Given the description of an element on the screen output the (x, y) to click on. 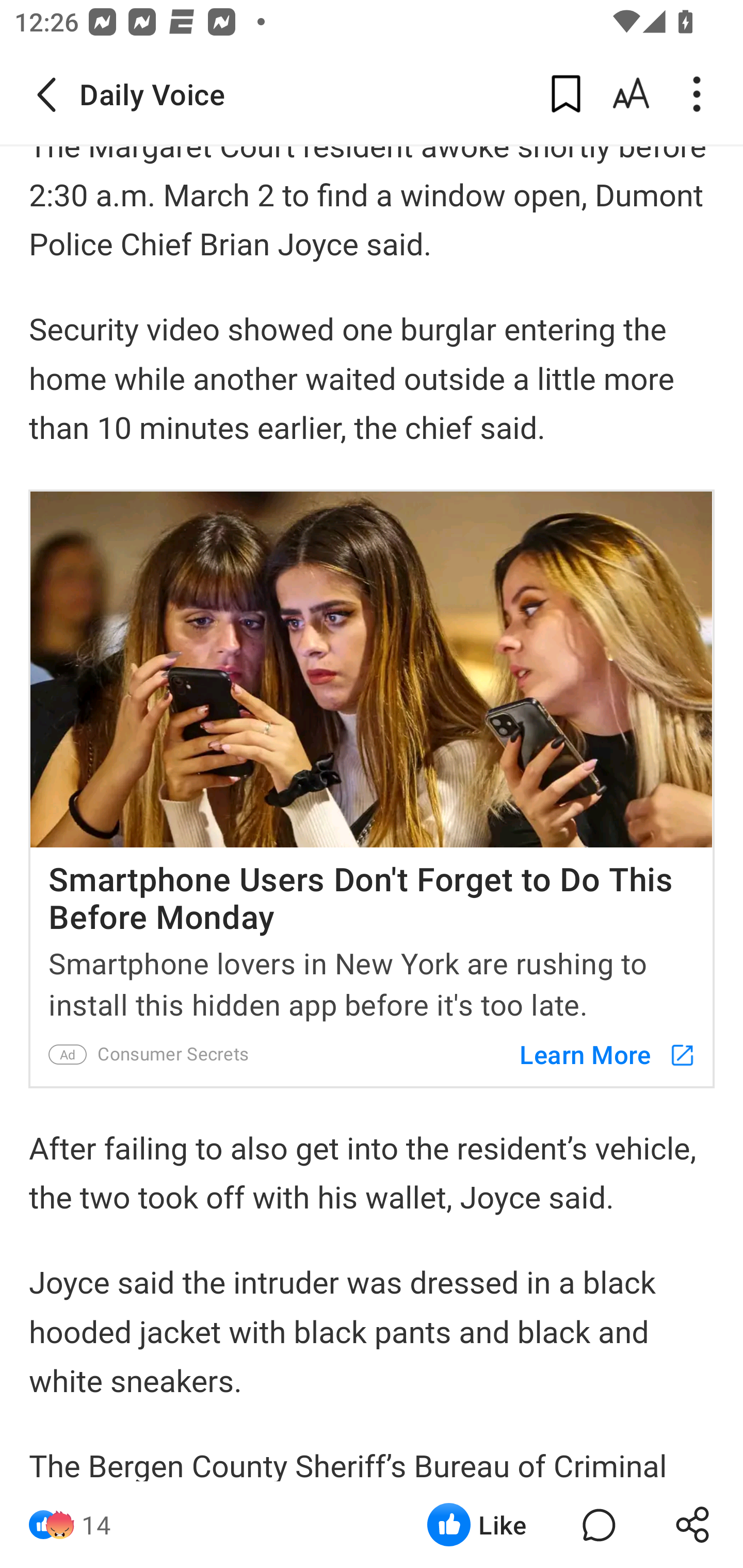
Learn More (597, 1054)
Consumer Secrets  (175, 1054)
14 (95, 1524)
Like (476, 1524)
